Given the description of an element on the screen output the (x, y) to click on. 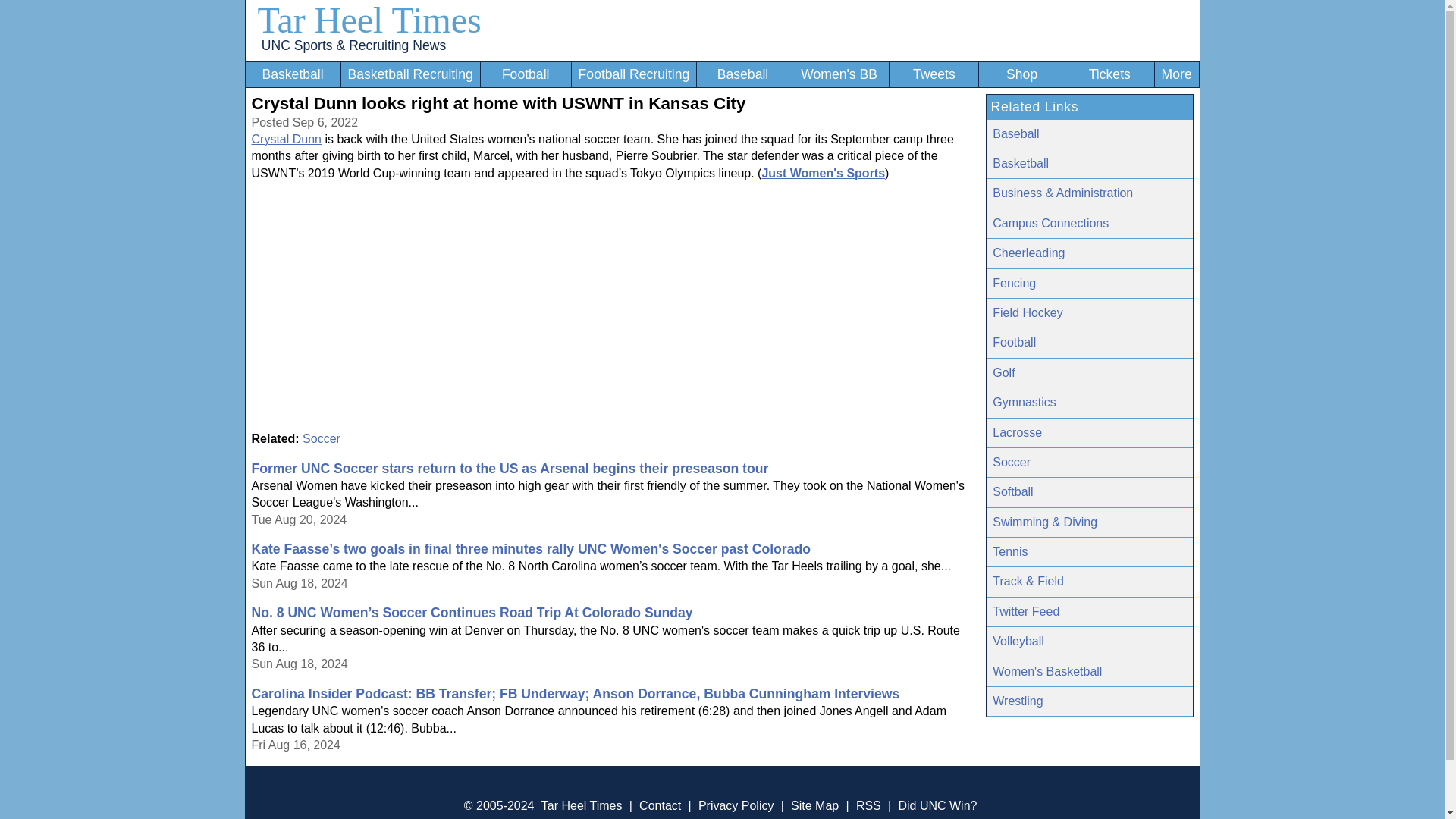
Women's BB (839, 74)
Basketball (293, 74)
Tar Heel Times (369, 20)
Soccer (1089, 462)
More (1176, 74)
Shop (1021, 74)
Tweets (933, 74)
Basketball (1089, 164)
UNC Sports Tickets (1109, 74)
Football (1089, 342)
